Given the description of an element on the screen output the (x, y) to click on. 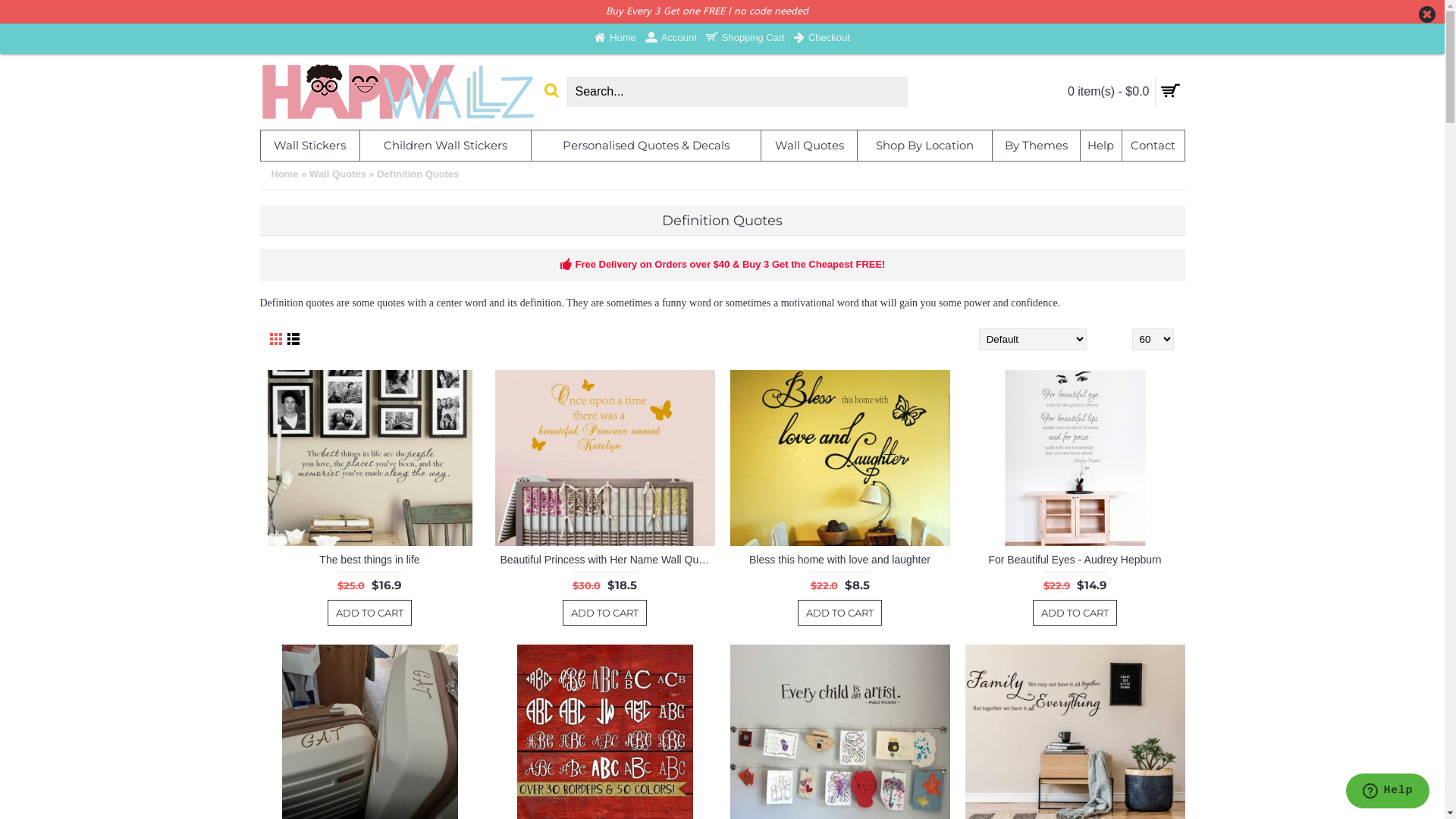
ADD TO CART Element type: text (369, 612)
Help Element type: text (1100, 145)
Account Element type: text (670, 38)
ADD TO CART Element type: text (839, 612)
Wall Stickers Element type: text (310, 145)
For Beautiful Eyes - Audrey Hepburn Element type: hover (1074, 458)
Definition Quotes Element type: text (417, 174)
For Beautiful Eyes - Audrey Hepburn Element type: text (1074, 558)
HappyWallz Stickers AU Element type: hover (398, 91)
The best things in life Element type: text (369, 558)
Shopping Cart Element type: text (745, 38)
Bless this home with love and laughter Element type: hover (839, 458)
Beautiful Princess with Her Name Wall Quotes Decal Element type: hover (604, 458)
Personalised Quotes & Decals Element type: text (646, 145)
Wall Quotes Element type: text (337, 174)
0 item(s) - $0.0 Element type: text (1069, 91)
By Themes Element type: text (1035, 145)
Home Element type: text (614, 38)
Wall Quotes Element type: text (808, 145)
ADD TO CART Element type: text (1074, 612)
Contact Element type: text (1153, 145)
Opens a widget where you can chat to one of our agents Element type: hover (1387, 792)
Home Element type: text (284, 174)
Children Wall Stickers Element type: text (445, 145)
Checkout Element type: text (821, 38)
Bless this home with love and laughter Element type: text (839, 558)
Shop By Location Element type: text (924, 145)
ADD TO CART Element type: text (604, 612)
Beautiful Princess with Her Name Wall Quotes Decal Element type: text (604, 558)
The best things in life  Element type: hover (369, 458)
